Given the description of an element on the screen output the (x, y) to click on. 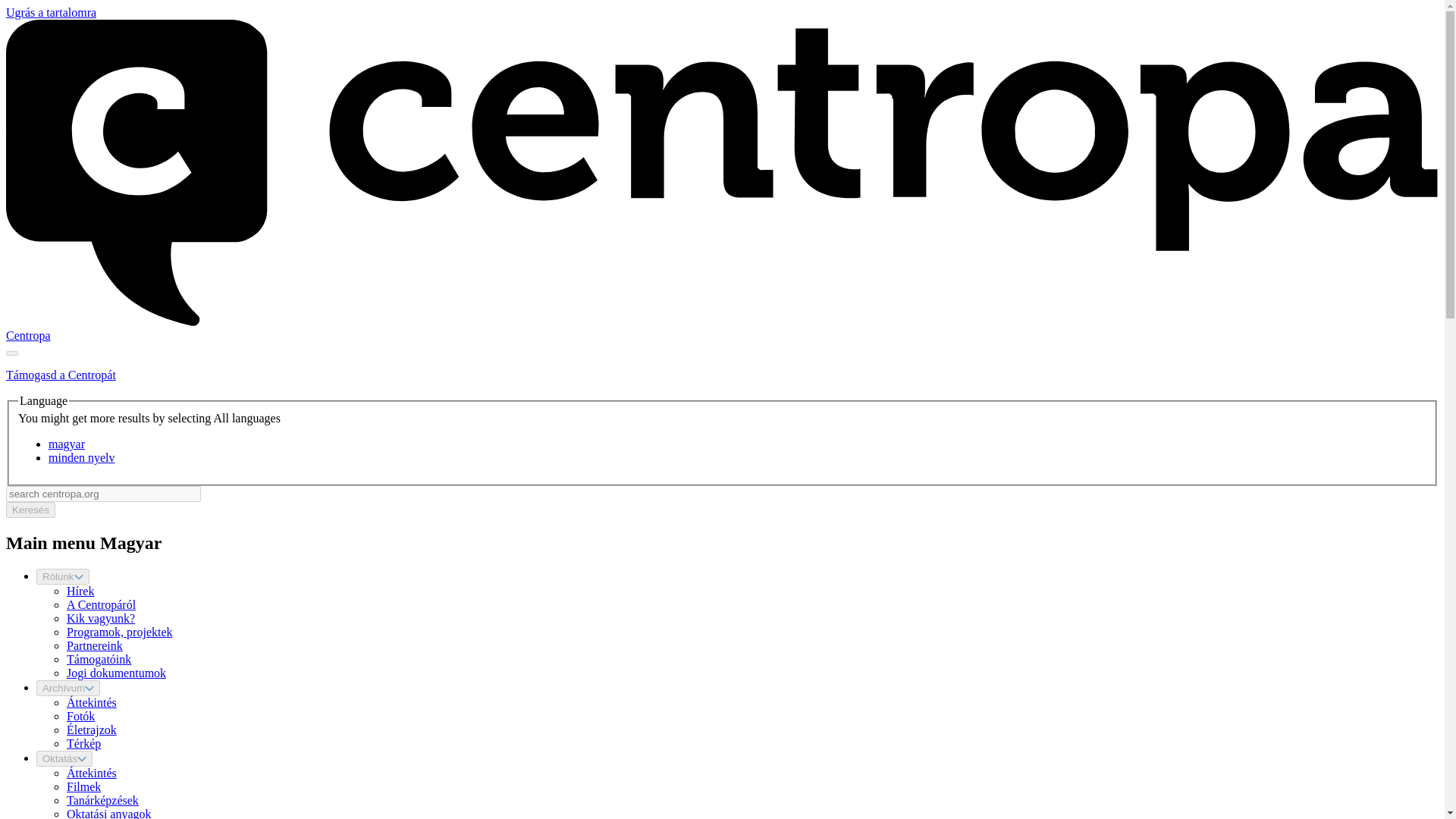
minden nyelv (81, 457)
magyar (66, 443)
Centropa (27, 335)
Filmek (83, 786)
Kik vagyunk? (100, 617)
Jogi dokumentumok (115, 672)
Programok, projektek (119, 631)
Partnereink (94, 645)
